Given the description of an element on the screen output the (x, y) to click on. 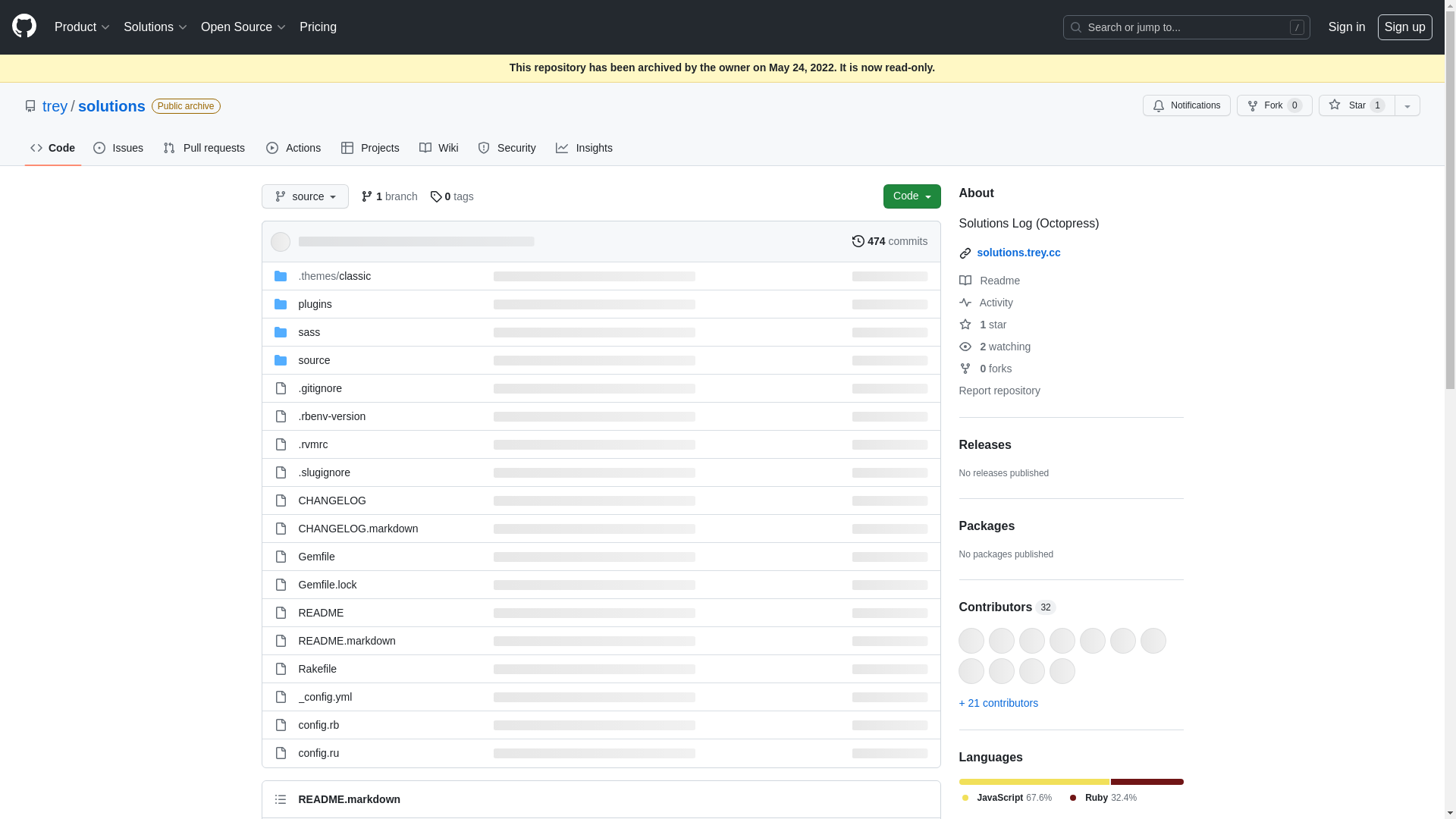
1 star Element type: text (982, 324)
Open Source Element type: text (243, 27)
474 commits Element type: text (889, 241)
config.ru Element type: text (318, 752)
CHANGELOG.markdown Element type: text (358, 528)
Solutions Element type: text (155, 27)
Product Element type: text (82, 27)
JavaScript
67.6% Element type: text (1004, 797)
2 watching Element type: text (994, 346)
Pull requests Element type: text (205, 147)
Star 1 Element type: text (1356, 105)
Ruby
32.4% Element type: text (1101, 797)
sass Element type: text (309, 332)
solutions.trey.cc Element type: text (1018, 252)
Skip to content Element type: text (0, 0)
.slugignore Element type: text (324, 472)
CHANGELOG Element type: text (332, 500)
.gitignore Element type: text (320, 388)
Activity Element type: text (985, 302)
solutions Element type: text (111, 105)
Issues Element type: text (118, 147)
1 branch Element type: text (388, 196)
Contributors
32 Element type: text (1070, 607)
source Element type: text (314, 360)
README.markdown Element type: text (349, 799)
Code Element type: text (52, 147)
config.rb Element type: text (318, 724)
Pricing Element type: text (317, 27)
plugins Element type: text (315, 304)
README.markdown Element type: text (346, 640)
Actions Element type: text (294, 147)
0 forks Element type: text (984, 368)
.rbenv-version Element type: text (332, 416)
Report repository Element type: text (998, 390)
Gemfile.lock Element type: text (327, 584)
trey Element type: text (54, 105)
Gemfile Element type: text (316, 556)
README Element type: text (321, 612)
_config.yml Element type: text (325, 696)
Projects Element type: text (371, 147)
Insights Element type: text (585, 147)
Sign up Element type: text (1404, 27)
Wiki Element type: text (439, 147)
Releases Element type: text (984, 444)
Search or jump to... Element type: text (1186, 26)
Readme Element type: text (988, 280)
Security Element type: text (507, 147)
Notifications Element type: text (1186, 105)
0 tags Element type: text (451, 196)
Fork 0 Element type: text (1274, 105)
Rakefile Element type: text (317, 668)
Packages Element type: text (1070, 526)
.themes/classic Element type: text (334, 275)
+ 21 contributors Element type: text (998, 702)
Sign in Element type: text (1346, 27)
.rvmrc Element type: text (313, 444)
